Given the description of an element on the screen output the (x, y) to click on. 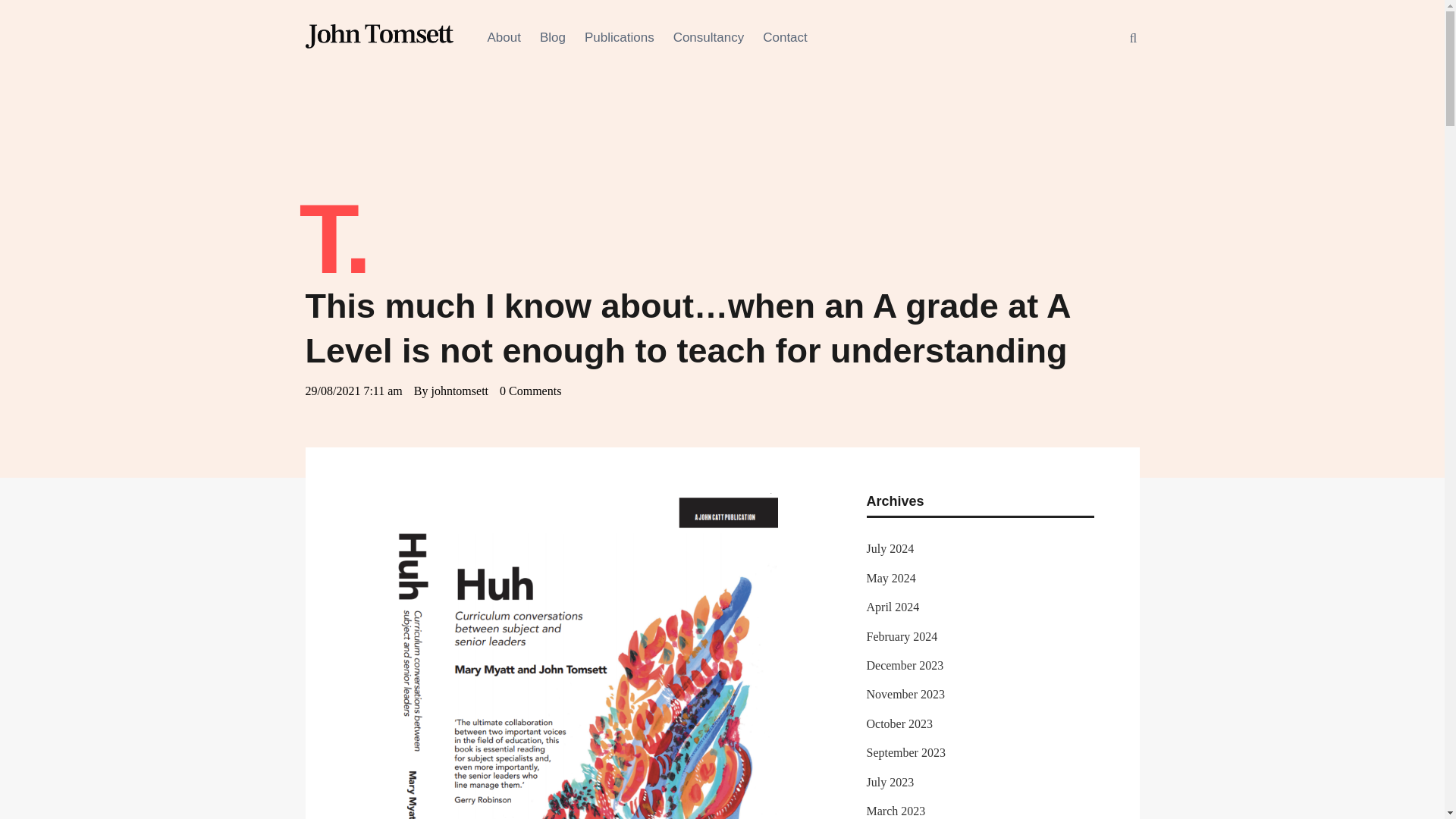
November 2023 (905, 694)
March 2023 (895, 811)
October 2023 (899, 723)
About (502, 37)
Blog (553, 37)
September 2023 (905, 752)
Publications (619, 37)
February 2024 (901, 636)
Contact (785, 37)
July 2023 (890, 782)
